Given the description of an element on the screen output the (x, y) to click on. 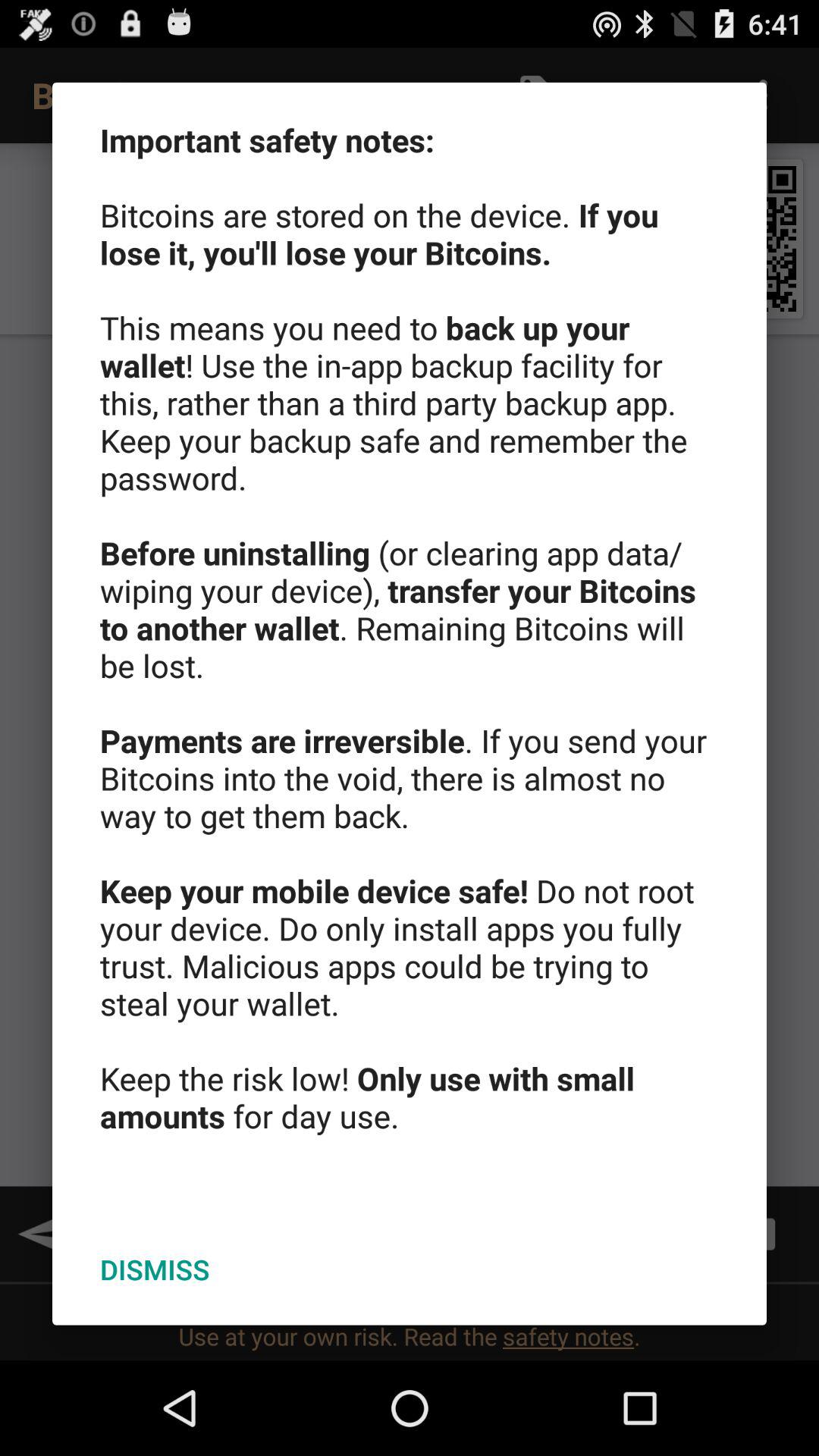
flip to the dismiss (154, 1269)
